Given the description of an element on the screen output the (x, y) to click on. 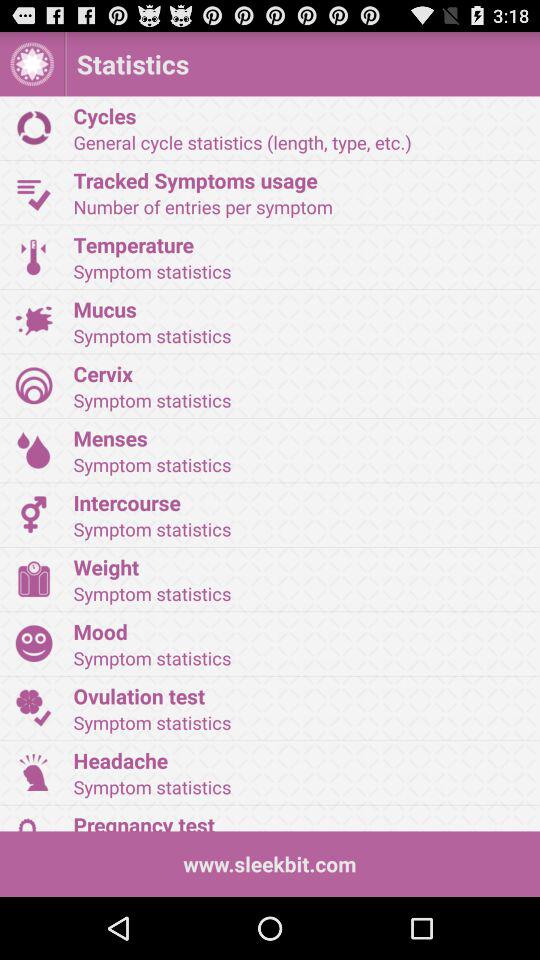
turn on the item below the symptom statistics app (299, 373)
